Given the description of an element on the screen output the (x, y) to click on. 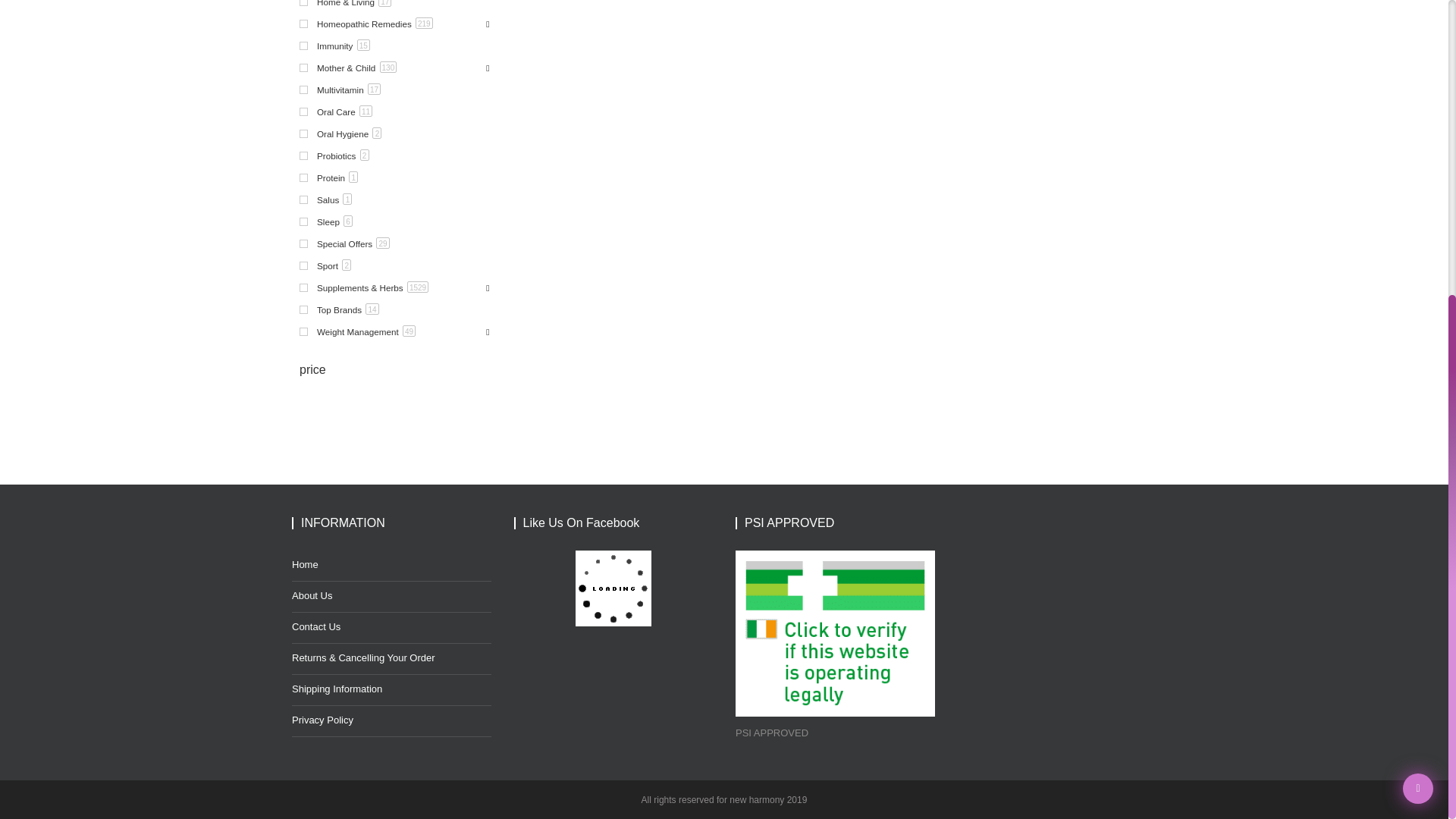
PSI APPROVED (834, 632)
